Given the description of an element on the screen output the (x, y) to click on. 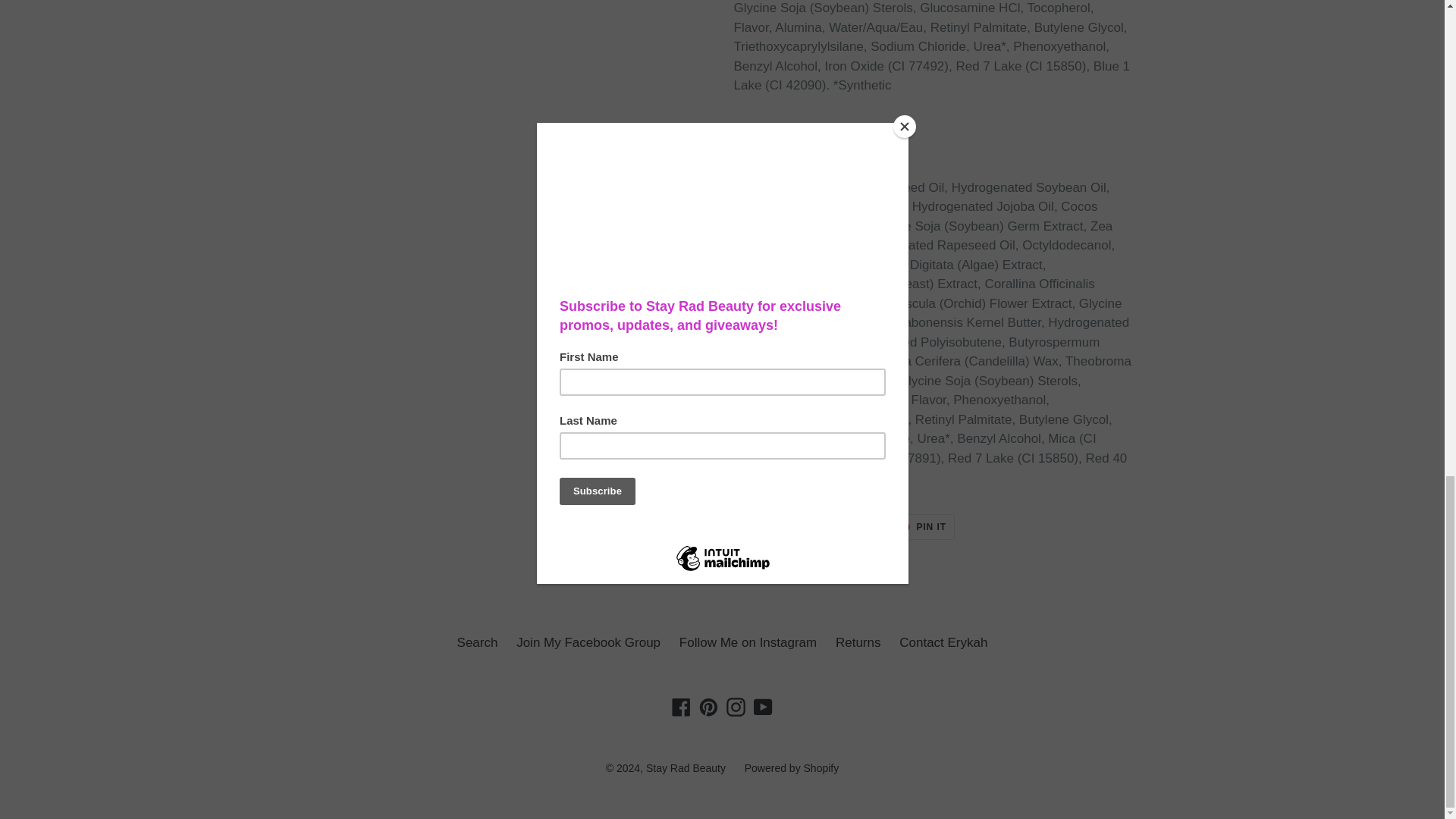
Share on Facebook (769, 526)
Stay Rad Beauty on Facebook (681, 706)
Stay Rad Beauty on YouTube (762, 706)
Tweet on Twitter (846, 526)
Stay Rad Beauty on Pinterest (708, 706)
Stay Rad Beauty on Instagram (735, 706)
Pin on Pinterest (922, 526)
